Given the description of an element on the screen output the (x, y) to click on. 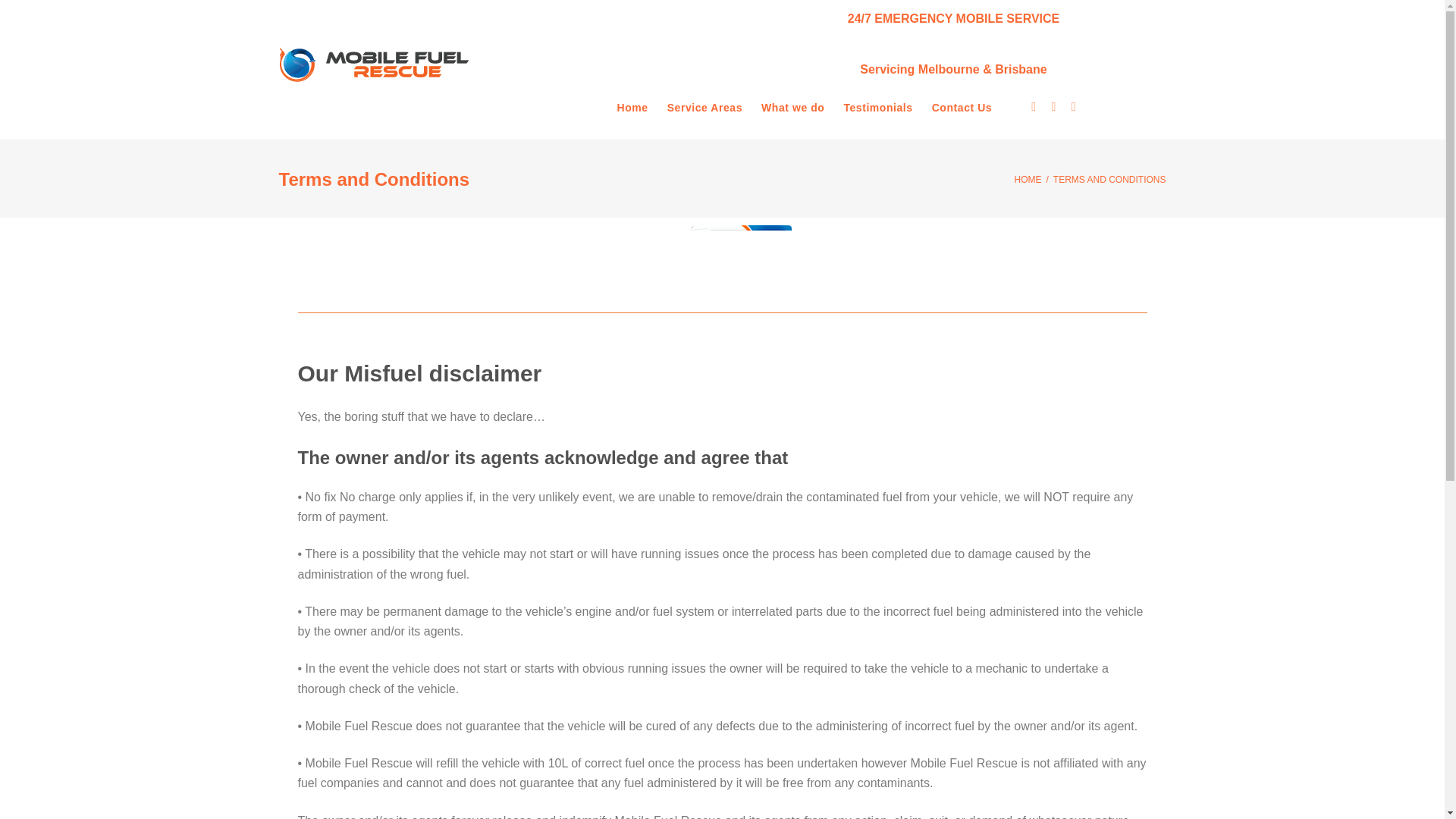
HOME (1028, 179)
1300 774 778 (953, 43)
Contact Us (961, 108)
What we do (792, 108)
Testimonials (877, 108)
Service Areas (704, 108)
Home (1028, 179)
truck (721, 255)
Home (632, 108)
